Given the description of an element on the screen output the (x, y) to click on. 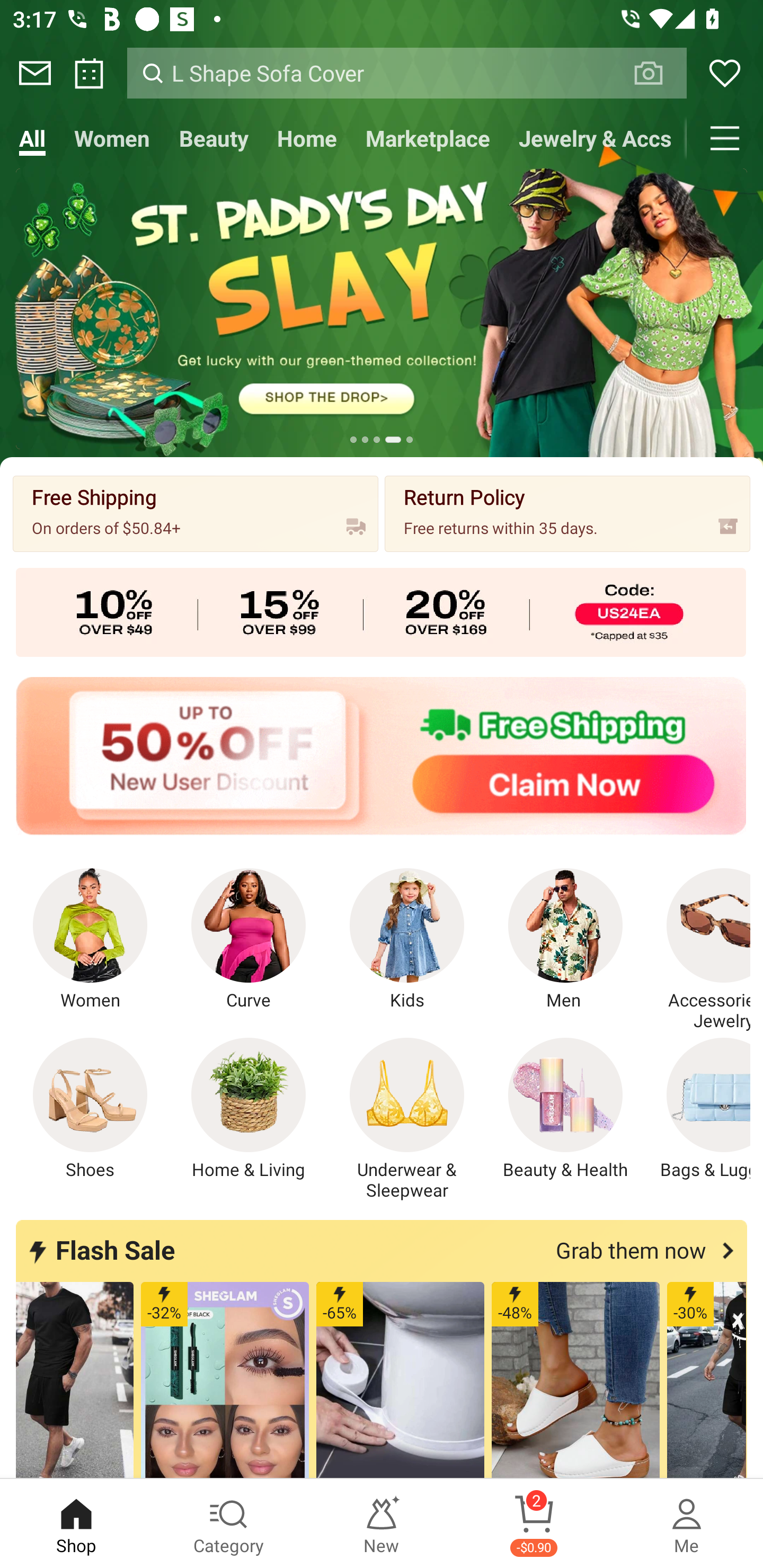
Wishlist (724, 72)
VISUAL SEARCH (657, 72)
All (31, 137)
Women (111, 137)
Beauty (213, 137)
Home (306, 137)
Marketplace (427, 137)
Jewelry & Accs (595, 137)
Free Shipping On orders of $50.84+ (195, 513)
Return Policy Free returns within 35 days. (567, 513)
Women (89, 939)
Curve (248, 939)
Kids (406, 939)
Men  (565, 939)
Accessories & Jewelry (698, 949)
Shoes (89, 1109)
Home & Living (248, 1109)
Underwear & Sleepwear (406, 1119)
Beauty & Health (565, 1109)
Bags & Luggage (698, 1109)
Category (228, 1523)
New (381, 1523)
Cart 2 -$0.90 (533, 1523)
Me (686, 1523)
